Given the description of an element on the screen output the (x, y) to click on. 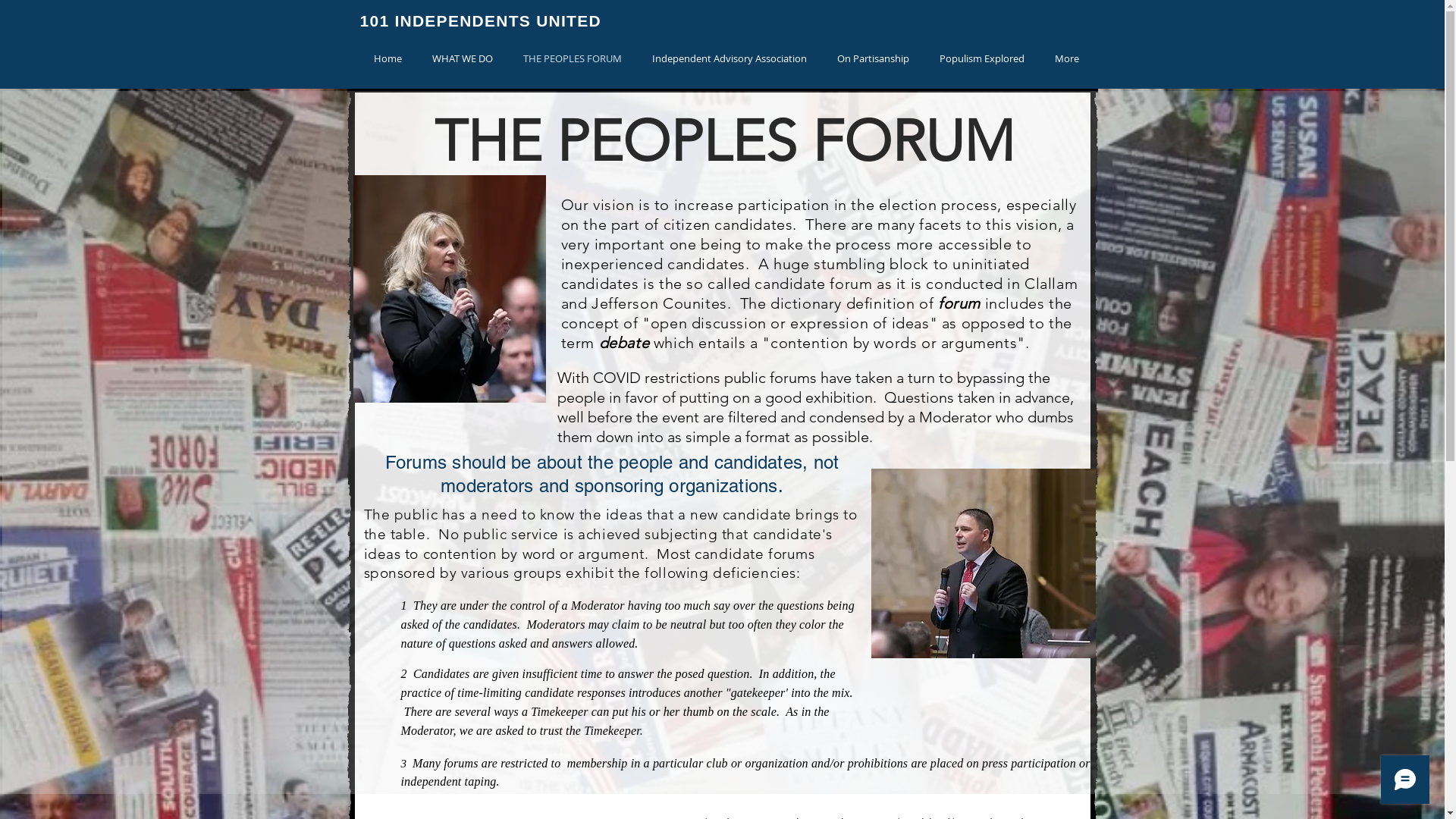
On Partisanship Element type: text (873, 58)
Independent Advisory Association Element type: text (729, 58)
THE PEOPLES FORUM Element type: text (572, 58)
101 INDEPENDENTS UNITED Element type: text (479, 20)
Home Element type: text (386, 58)
Populism Explored Element type: text (980, 58)
WHAT WE DO Element type: text (462, 58)
